Given the description of an element on the screen output the (x, y) to click on. 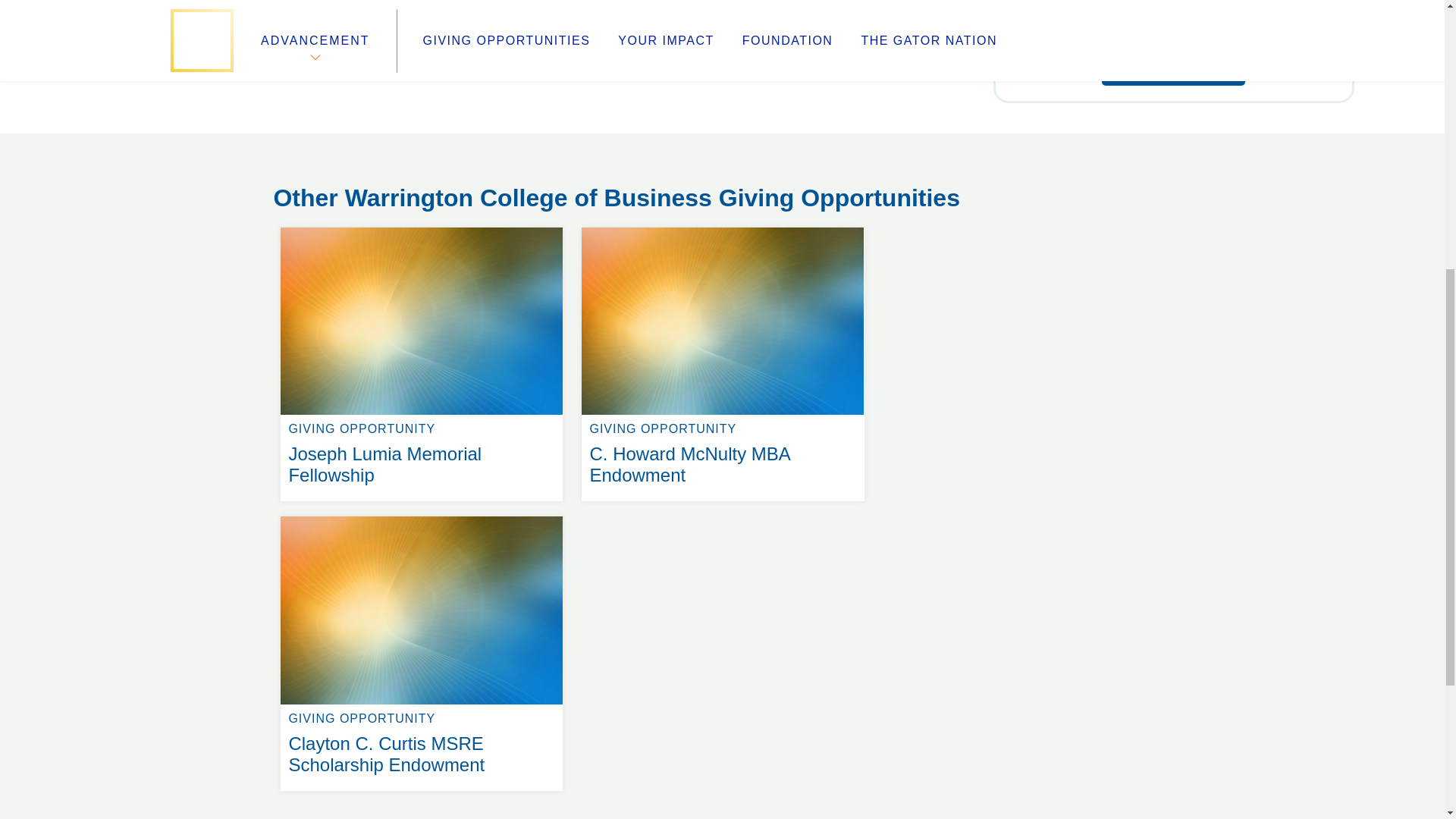
Join Our Team (317, 161)
Complete My Gift (721, 227)
Advancement HUB (1173, 69)
University of Florida (560, 161)
Privacy Policy (840, 161)
Disclosures (545, 198)
Staff Directory (537, 216)
Foundation Board (316, 180)
Advancement Toolkit (327, 198)
Contact Us (565, 180)
